Given the description of an element on the screen output the (x, y) to click on. 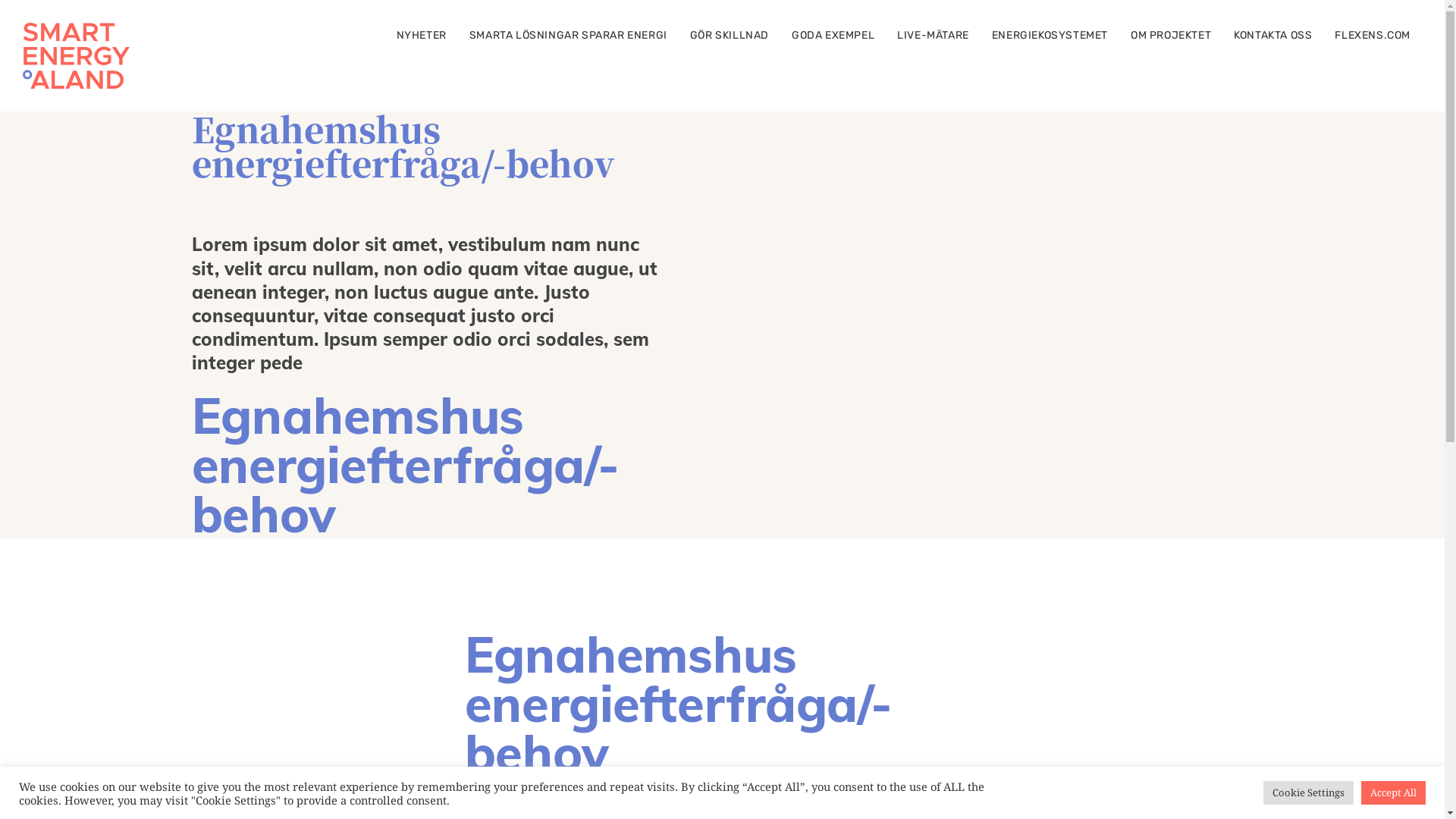
ENERGIEKOSYSTEMET Element type: text (1049, 35)
Cookie Settings Element type: text (1308, 792)
KONTAKTA OSS Element type: text (1272, 35)
GODA EXEMPEL Element type: text (832, 35)
NYHETER Element type: text (421, 35)
OM PROJEKTET Element type: text (1170, 35)
Accept All Element type: text (1393, 792)
FLEXENS.COM Element type: text (1372, 35)
